Given the description of an element on the screen output the (x, y) to click on. 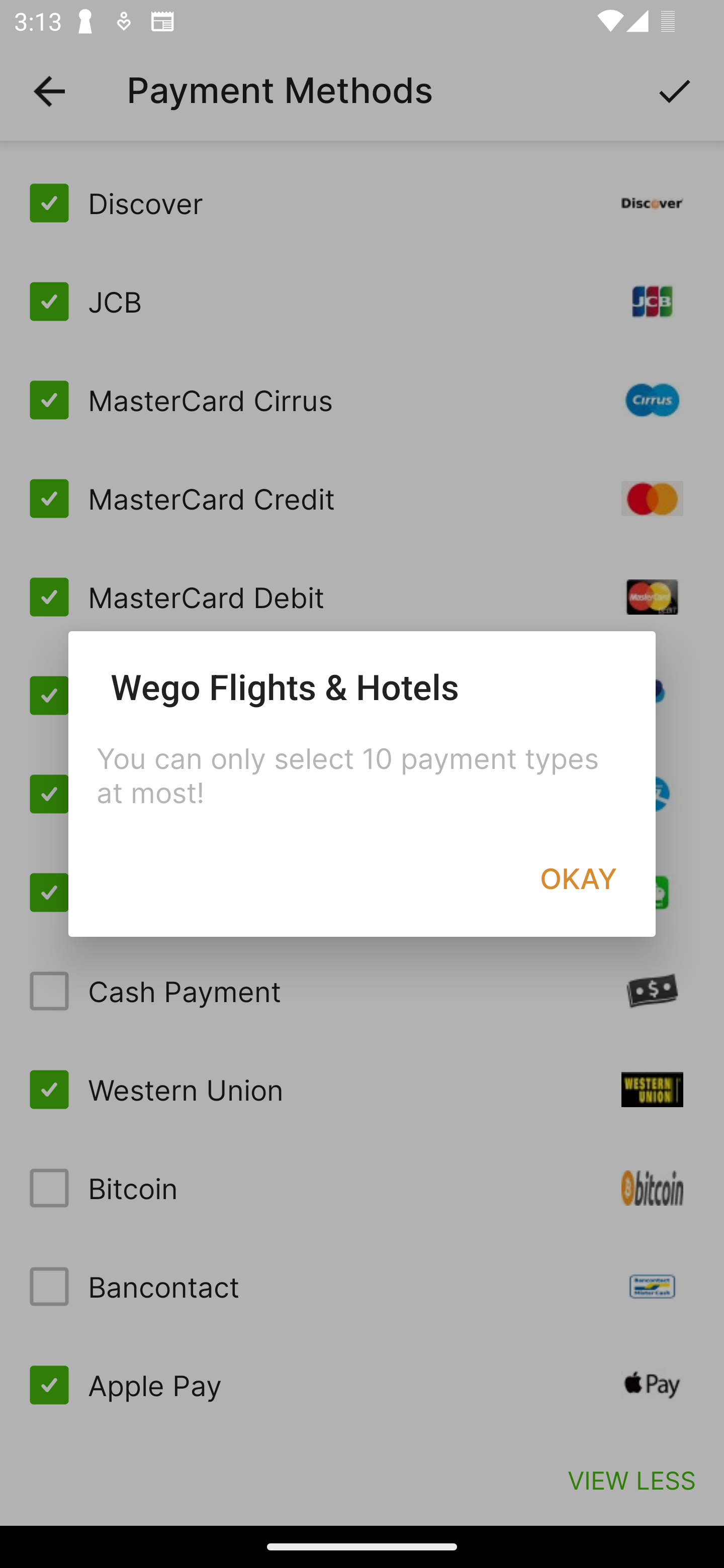
OKAY (578, 877)
